Given the description of an element on the screen output the (x, y) to click on. 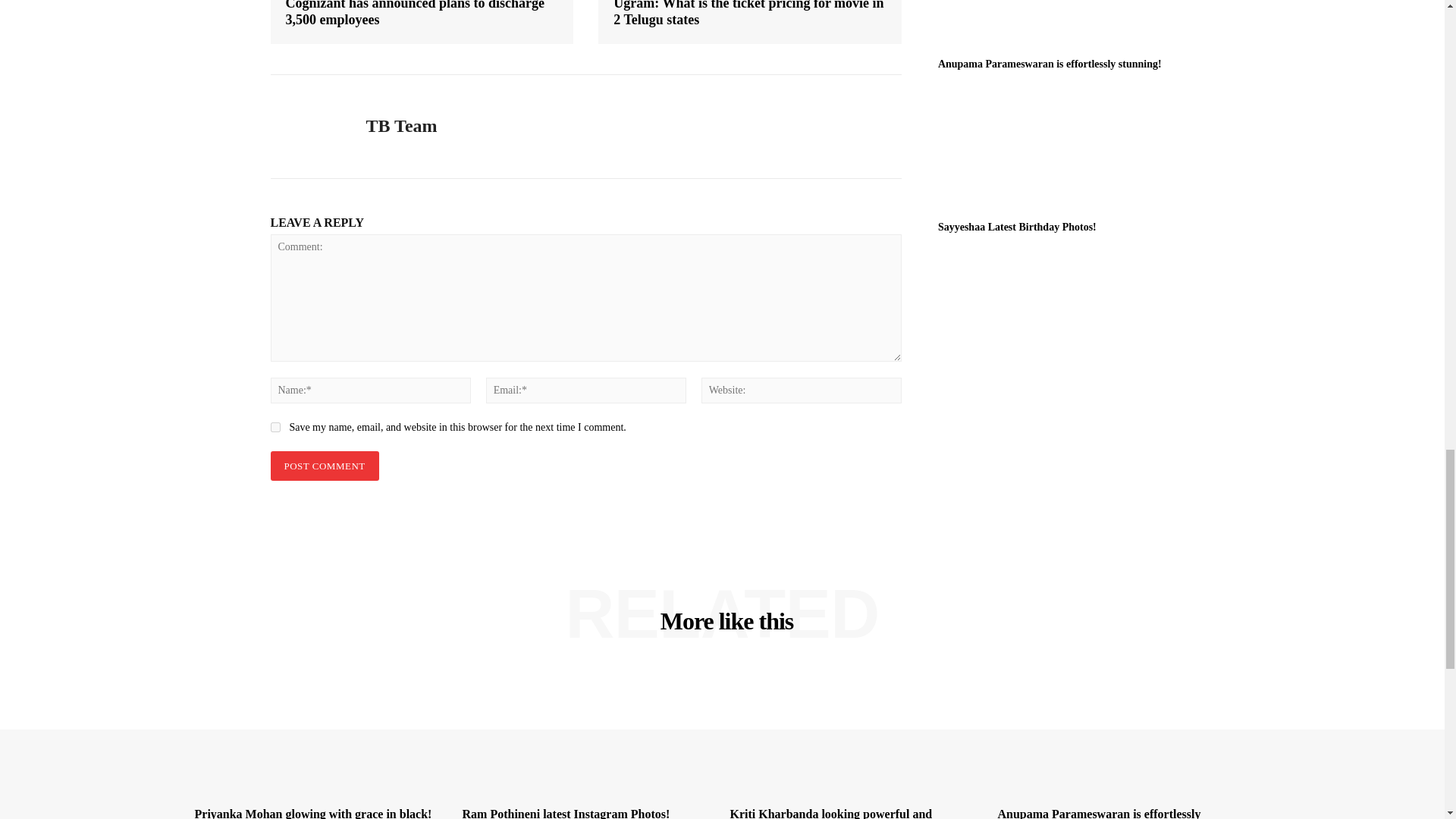
yes (274, 427)
TB Team (305, 126)
Post Comment (323, 465)
